Given the description of an element on the screen output the (x, y) to click on. 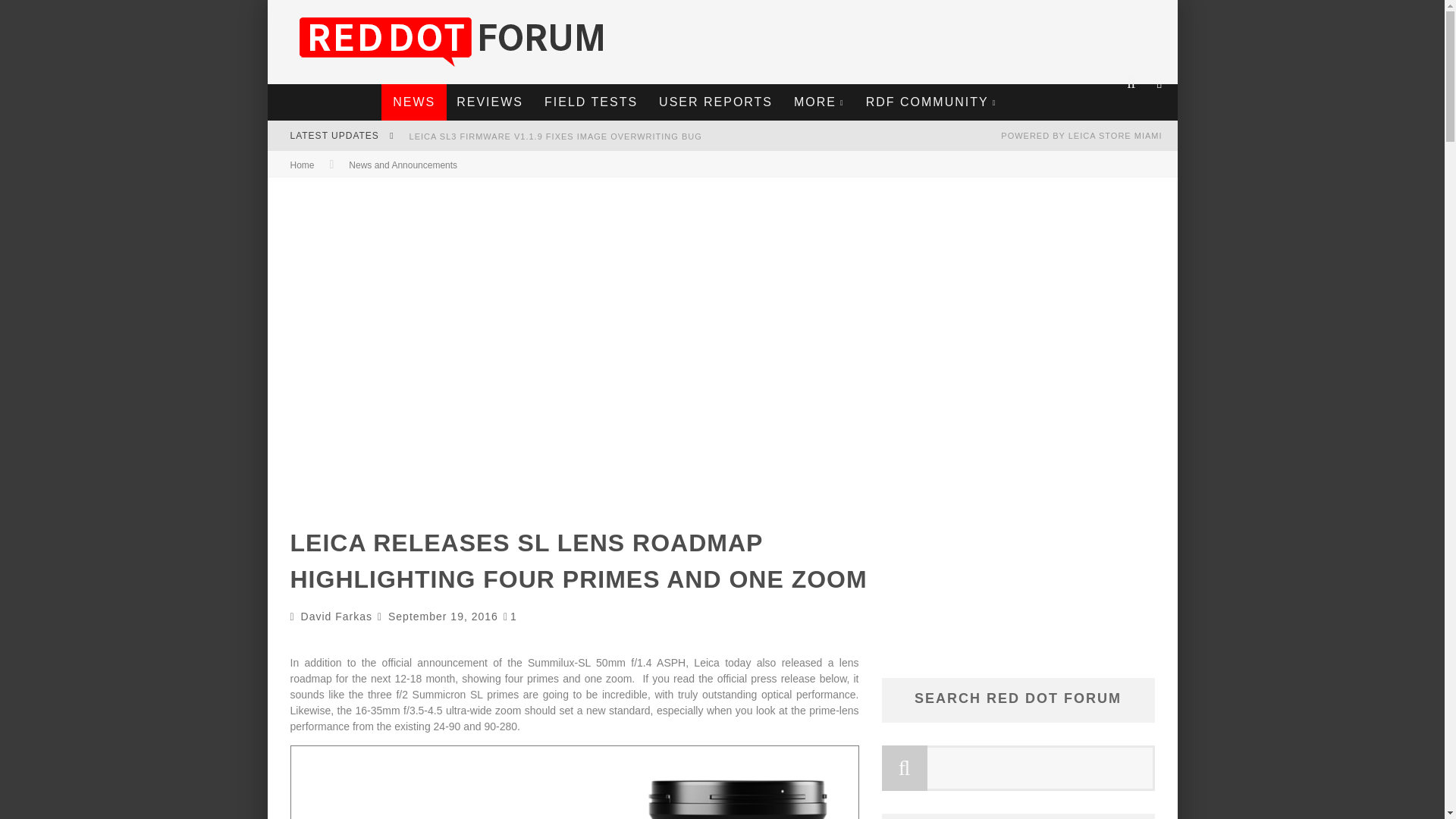
Log In (721, 458)
Register (721, 475)
NEWS (413, 102)
Leica SL3 Firmware v1.1.9 Fixes Image Overwriting Bug (555, 135)
View all posts in News and Announcements (403, 164)
